Given the description of an element on the screen output the (x, y) to click on. 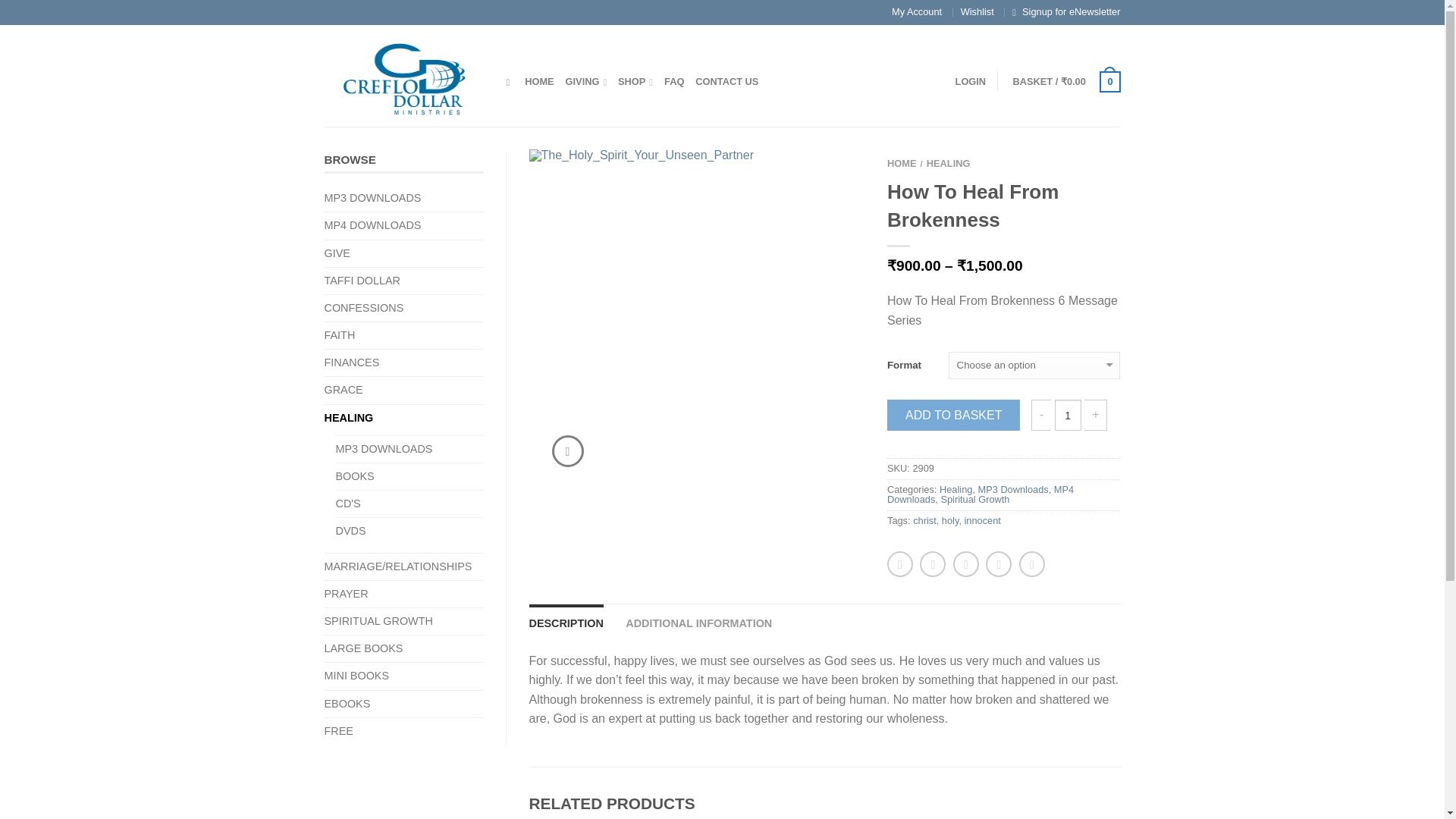
GIVING (586, 81)
FAITH (345, 335)
SHOP (634, 81)
Wishlist (977, 11)
LOGIN (971, 81)
HOME (538, 81)
TAFFI DOLLAR (368, 280)
My Account (916, 11)
MP3 DOWNLOADS (378, 198)
MP4 DOWNLOADS (378, 225)
Signup for eNewsletter (1070, 11)
CONFESSIONS (369, 307)
GIVE (342, 253)
CONTACT US (726, 81)
